Given the description of an element on the screen output the (x, y) to click on. 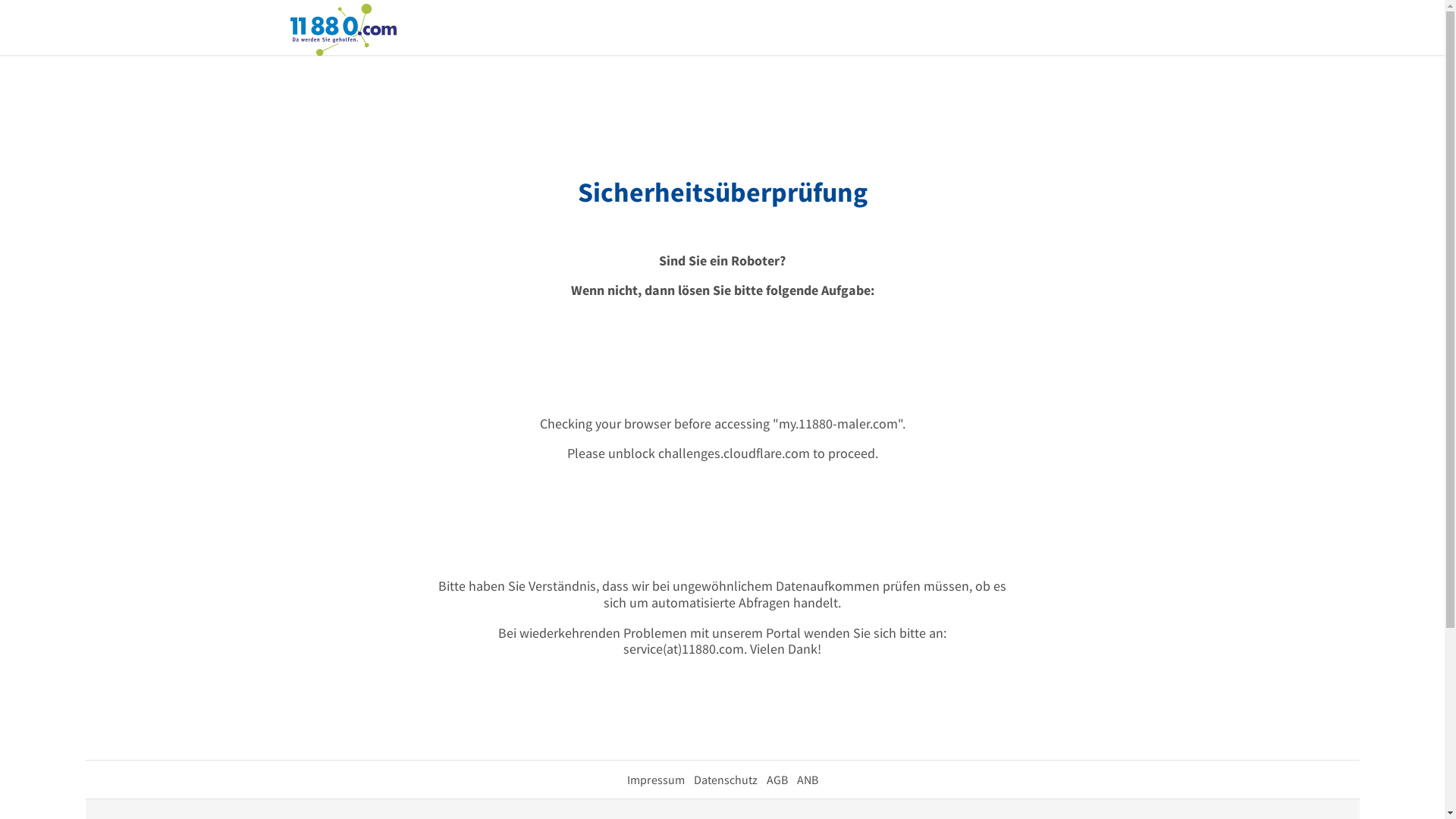
Impressum Element type: text (655, 779)
Datenschutz Element type: text (724, 779)
11880.com Element type: hover (342, 28)
AGB Element type: text (776, 779)
ANB Element type: text (806, 779)
